Given the description of an element on the screen output the (x, y) to click on. 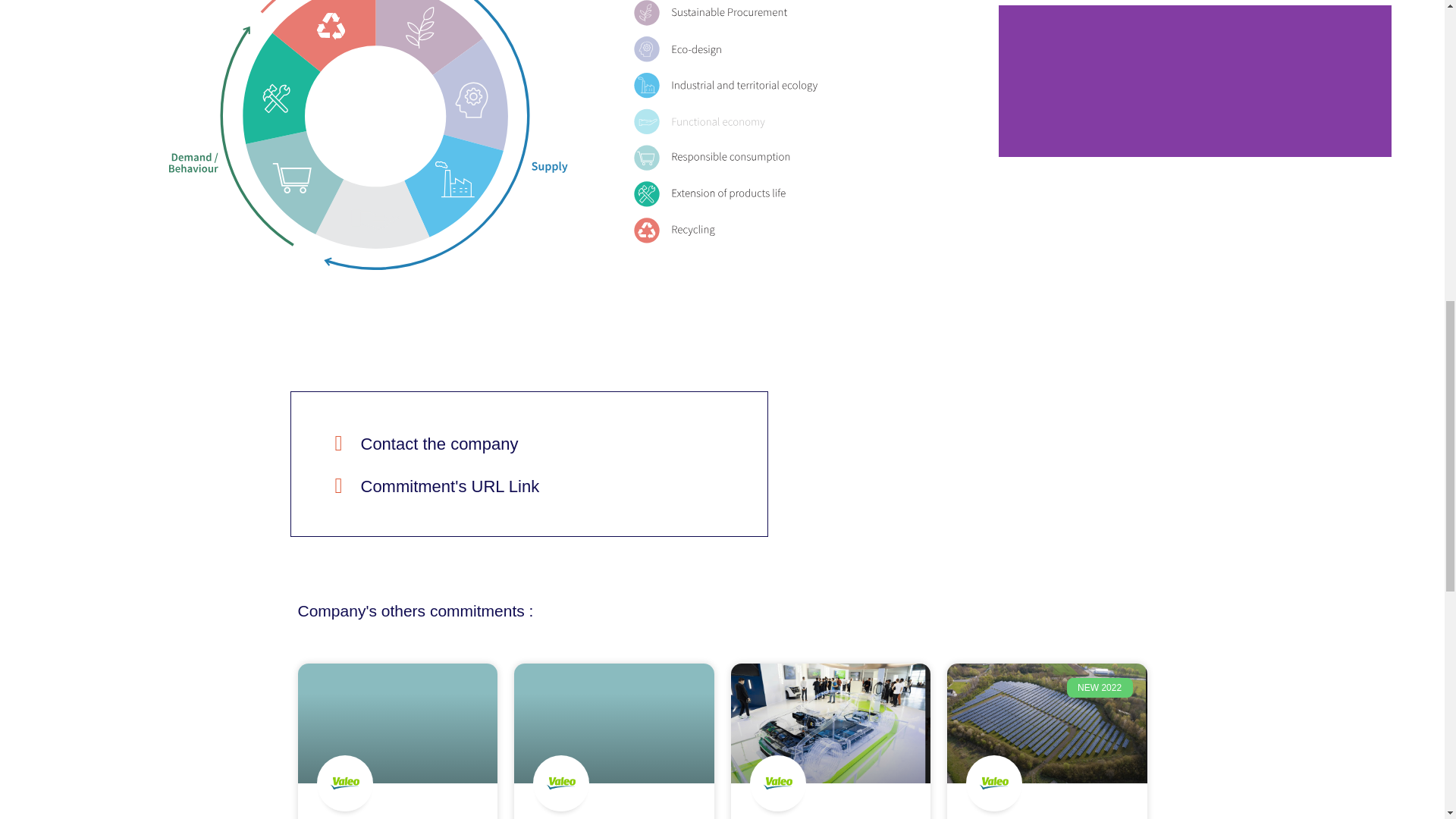
Commitment's URL Link (450, 486)
Contact the company (439, 443)
